Given the description of an element on the screen output the (x, y) to click on. 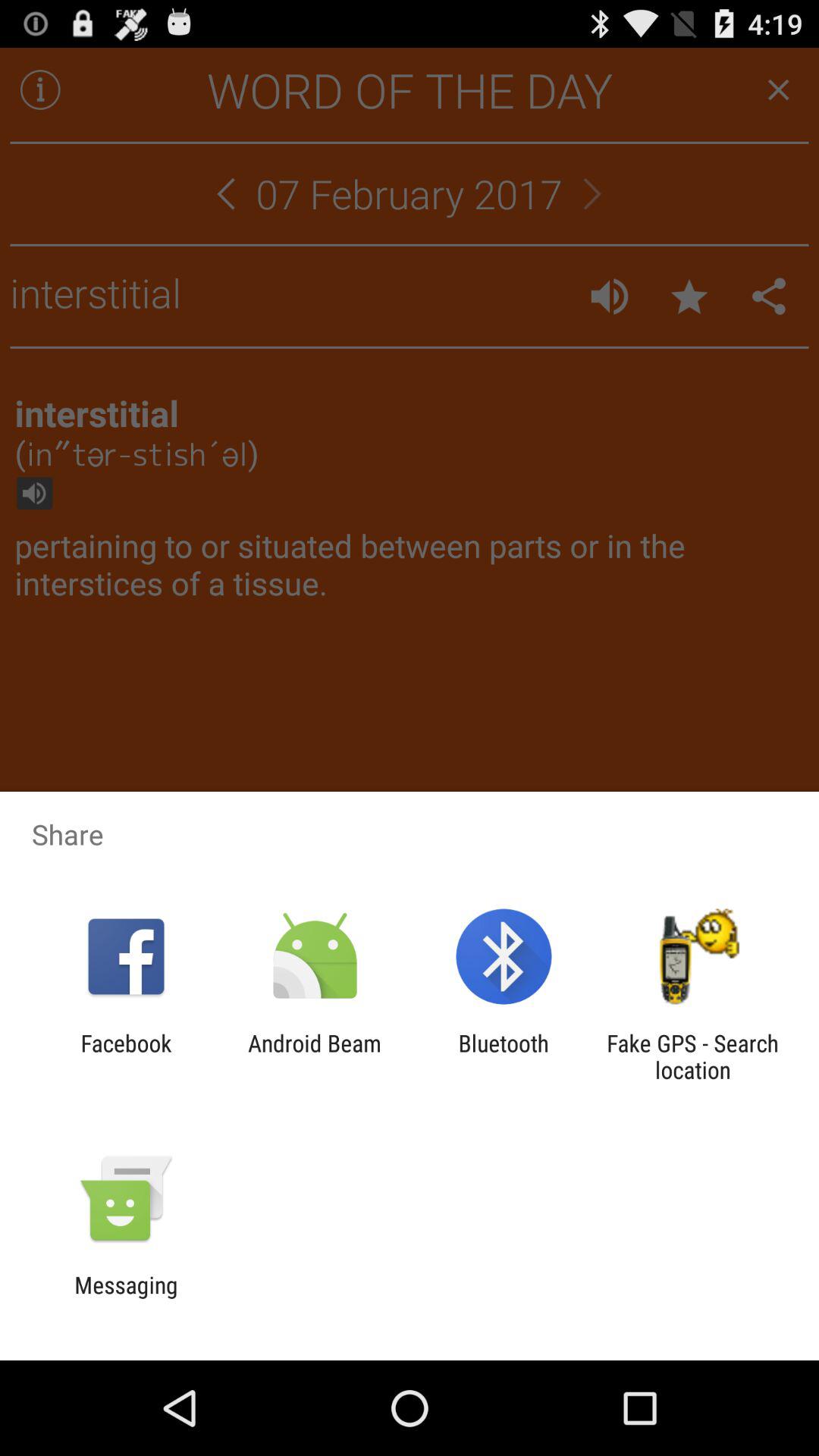
scroll until bluetooth item (503, 1056)
